Given the description of an element on the screen output the (x, y) to click on. 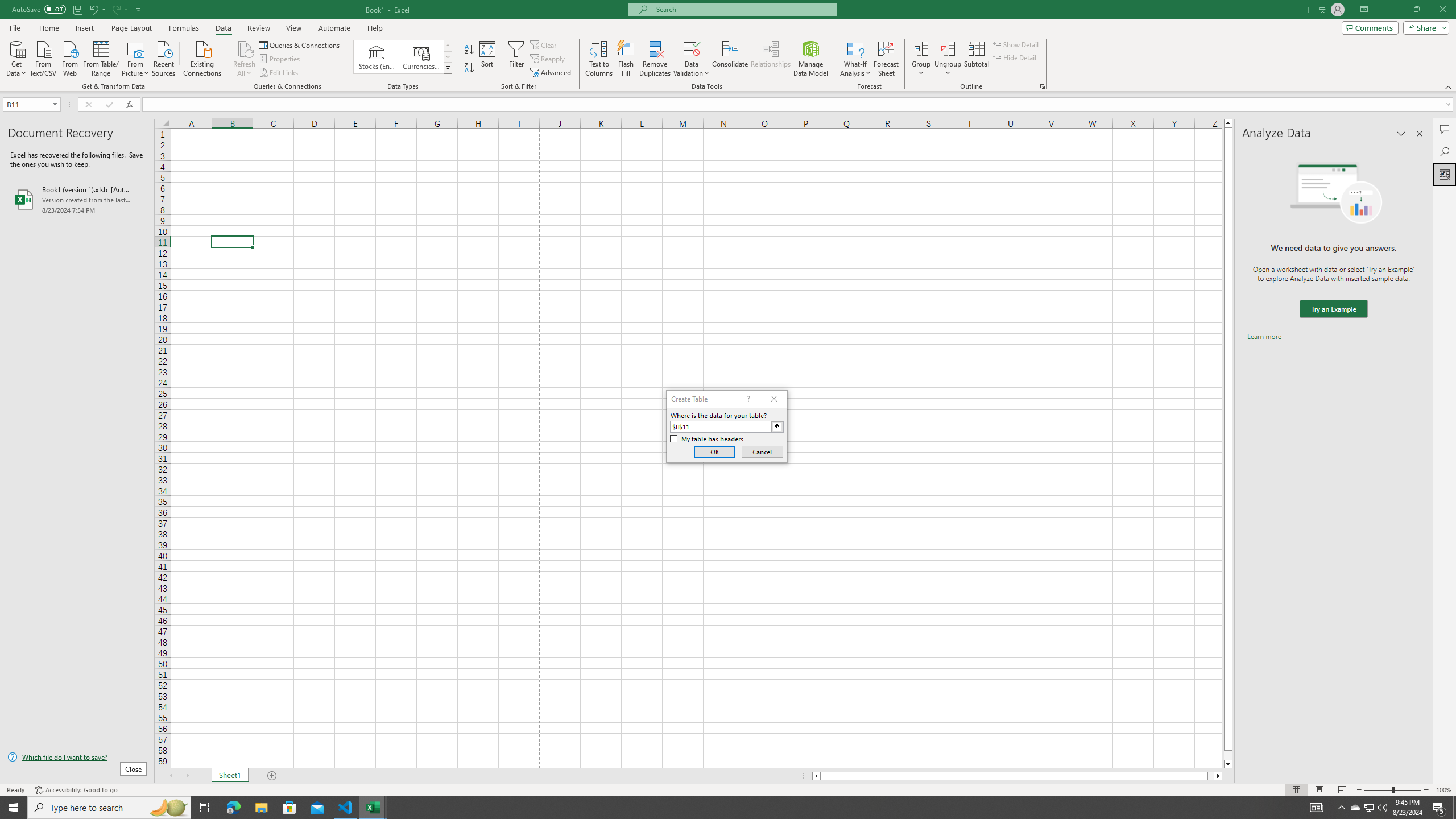
We need data to give you answers. Try an Example (1333, 308)
More Options (947, 68)
Line up (1228, 122)
Column left (815, 775)
Search (1444, 151)
Edit Links (279, 72)
AutoSave (38, 9)
Reapply (548, 58)
What-If Analysis (855, 58)
Microsoft search (742, 9)
Minimize (1390, 9)
Close pane (1419, 133)
File Tab (15, 27)
Close (1442, 9)
From Table/Range (100, 57)
